Given the description of an element on the screen output the (x, y) to click on. 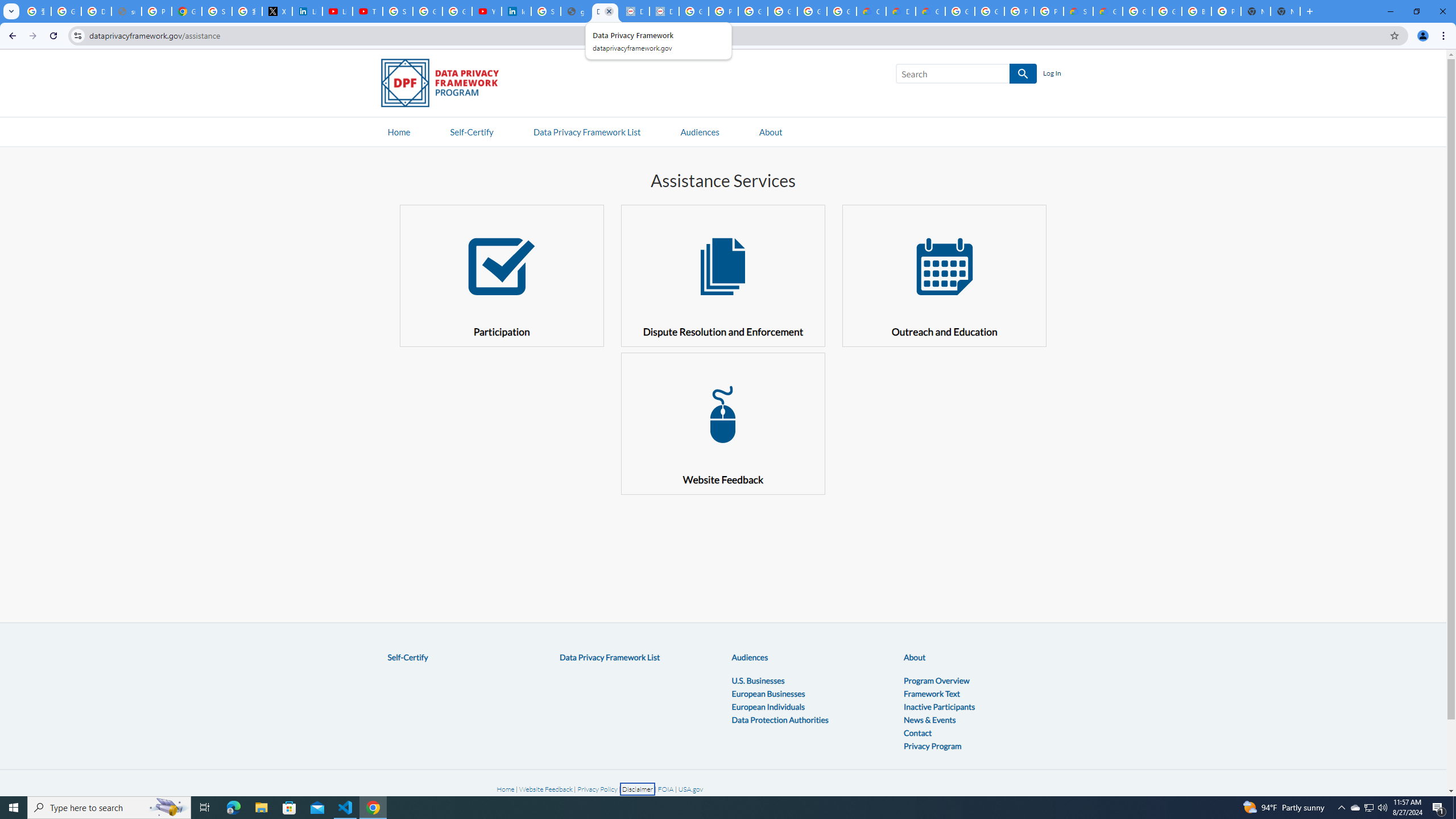
Data Privacy Framework (664, 11)
 Outreach and Education (944, 275)
Google Cloud Platform (1166, 11)
Sign in - Google Accounts (216, 11)
Google Cloud Platform (989, 11)
 Participation (501, 275)
New Tab (1284, 11)
European Businesses (767, 692)
